Given the description of an element on the screen output the (x, y) to click on. 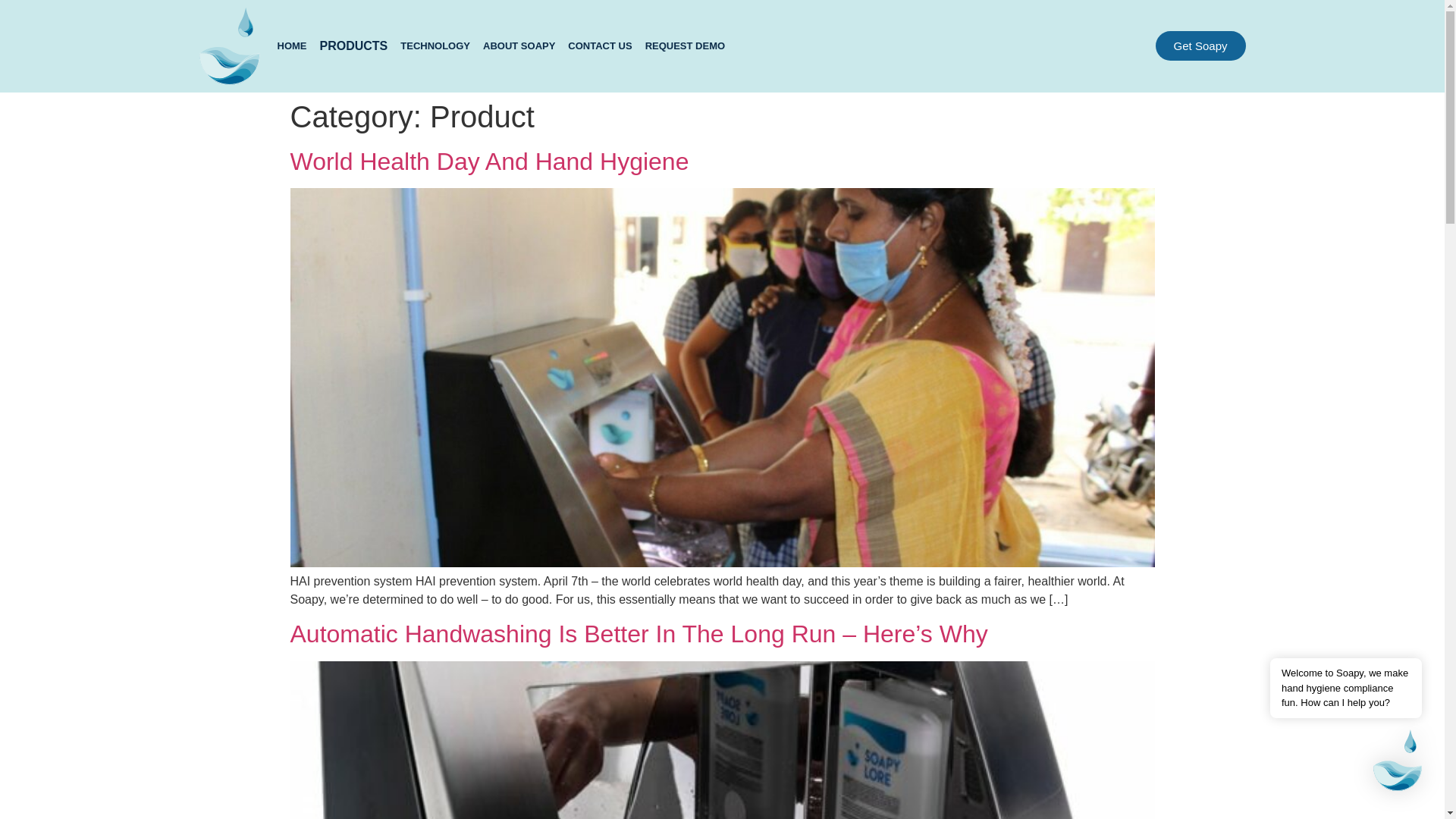
REQUEST DEMO (685, 45)
TECHNOLOGY (435, 45)
Get Soapy (1201, 45)
ABOUT SOAPY (519, 45)
CONTACT US (599, 45)
PRODUCTS (353, 45)
HOME (291, 45)
